Given the description of an element on the screen output the (x, y) to click on. 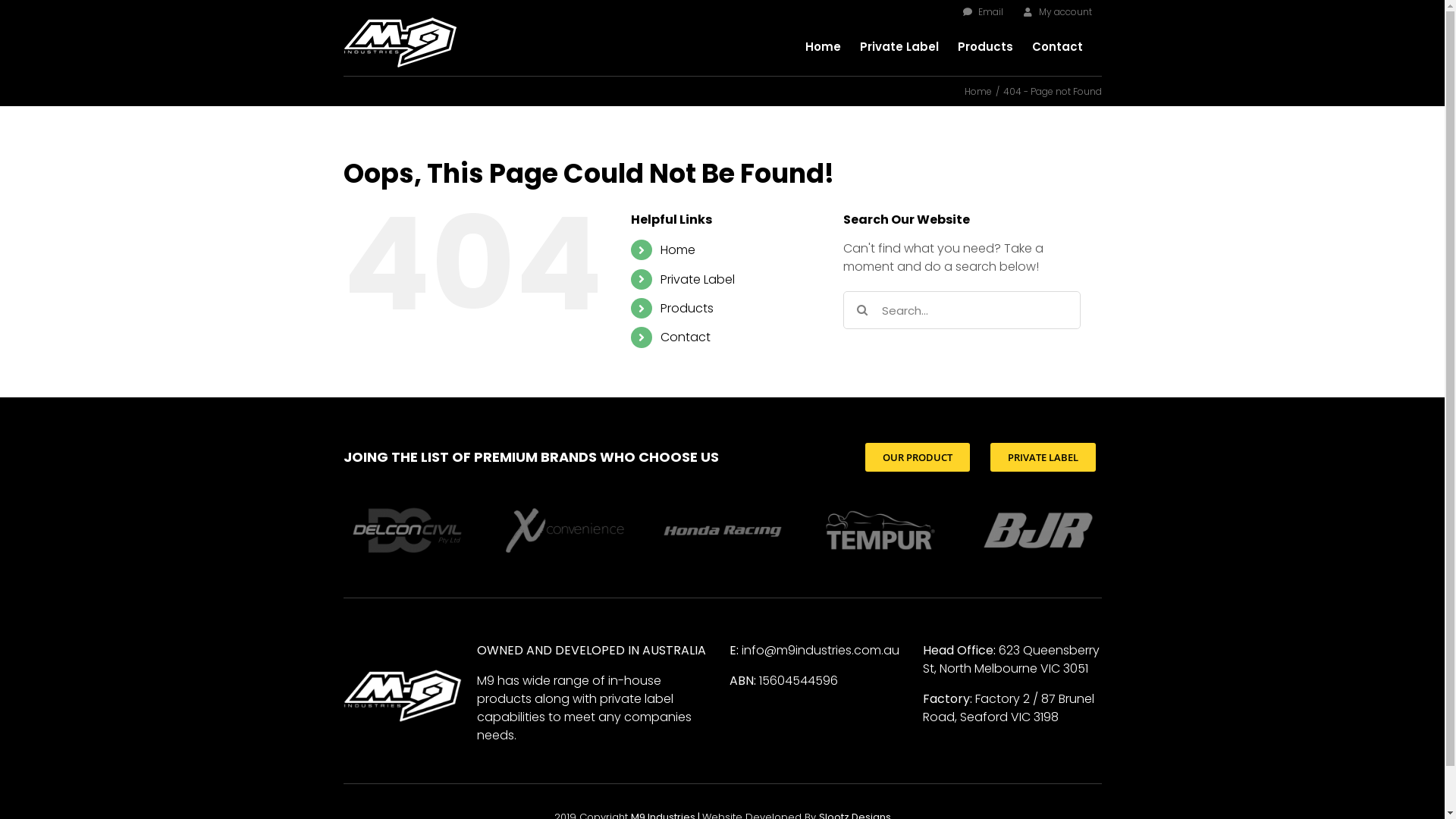
Products Element type: text (984, 46)
Partner-Logo-Tempur@2x Element type: hover (879, 530)
PRIVATE LABEL Element type: text (1042, 456)
Contact Element type: text (685, 336)
OUR PRODUCT Element type: text (917, 456)
Private Label Element type: text (898, 46)
Products Element type: text (686, 307)
My account Element type: text (1057, 11)
Partner-Logo-X-Convenience@2x Element type: hover (563, 530)
M9_Logos@2x Element type: hover (401, 695)
Email Element type: text (982, 11)
Partner-Logo-BJR@2x Element type: hover (1037, 530)
Partner-Logo-Delconcivil@2x Element type: hover (406, 530)
Contact Element type: text (1056, 46)
Home Element type: text (822, 46)
Home Element type: text (677, 249)
Private Label Element type: text (697, 279)
Home Element type: text (977, 90)
Partner-Logo-Honda-racing@2x Element type: hover (721, 530)
